Given the description of an element on the screen output the (x, y) to click on. 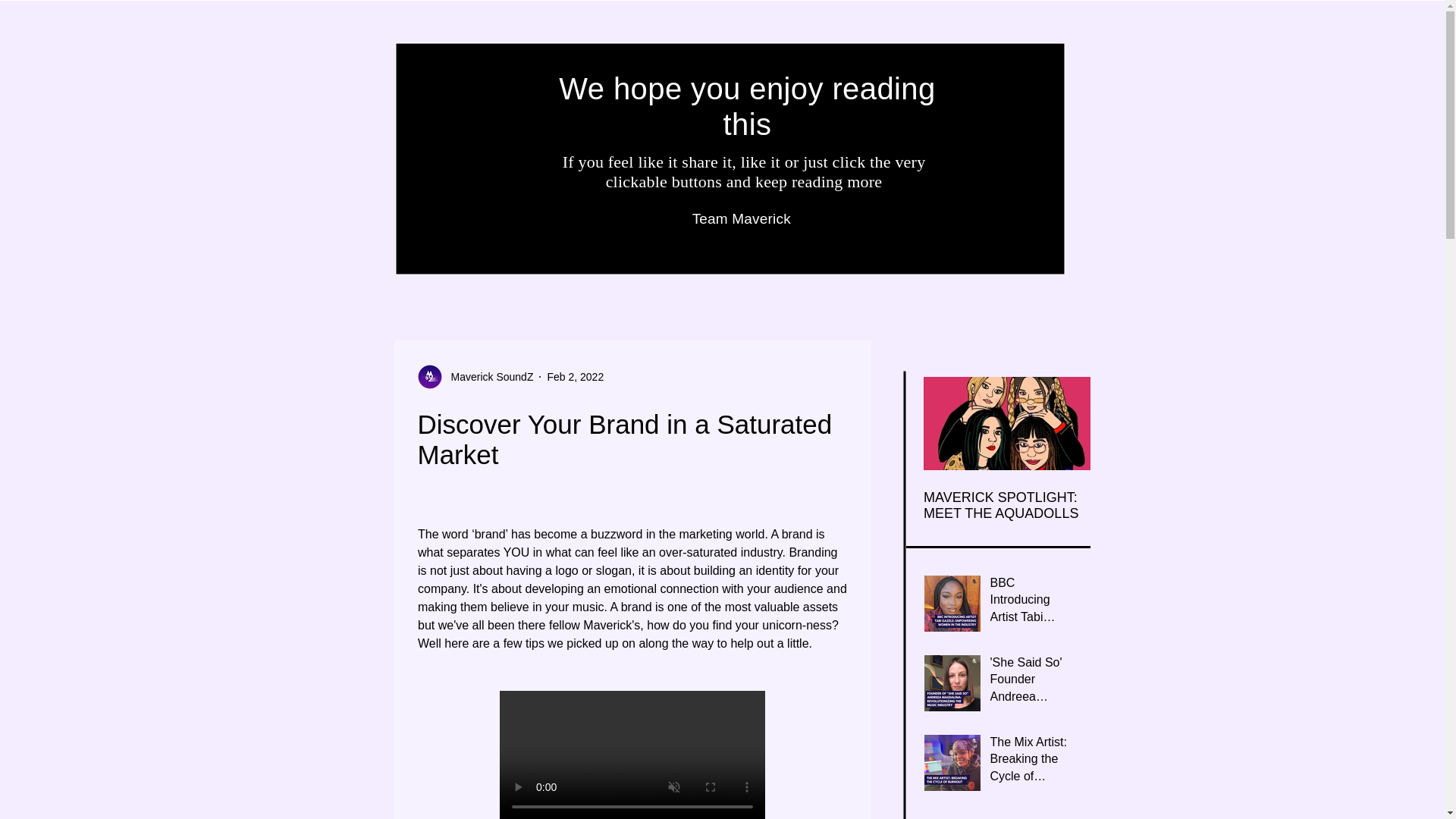
Maverick SoundZ (474, 376)
Feb 2, 2022 (575, 376)
Maverick SoundZ (486, 376)
The Independent Artist Cheat Sheet for Releases (1173, 505)
The Mix Artist: Breaking the Cycle of Burnout (1030, 762)
MAVERICK SPOTLIGHT: MEET THE AQUADOLLS (1006, 505)
